Given the description of an element on the screen output the (x, y) to click on. 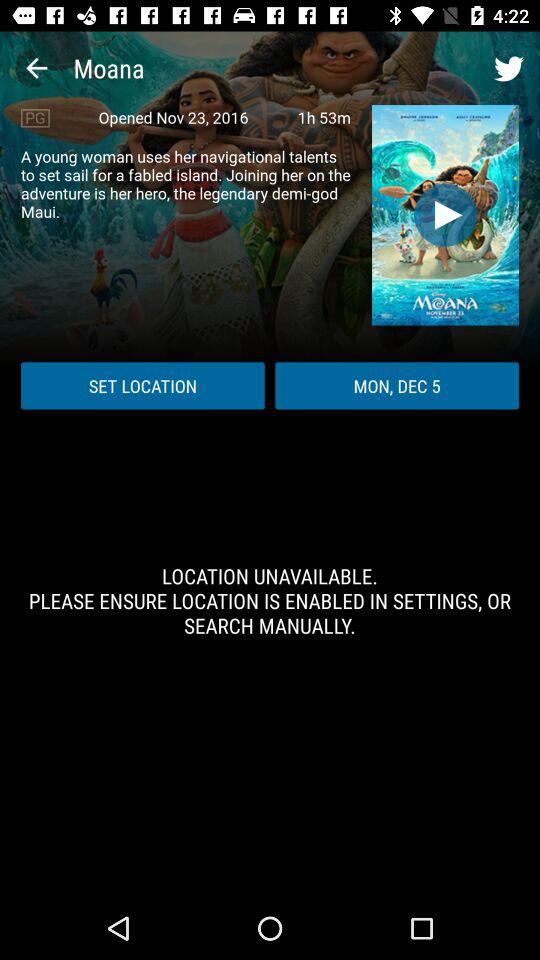
select icon above the location unavailable please icon (142, 385)
